Given the description of an element on the screen output the (x, y) to click on. 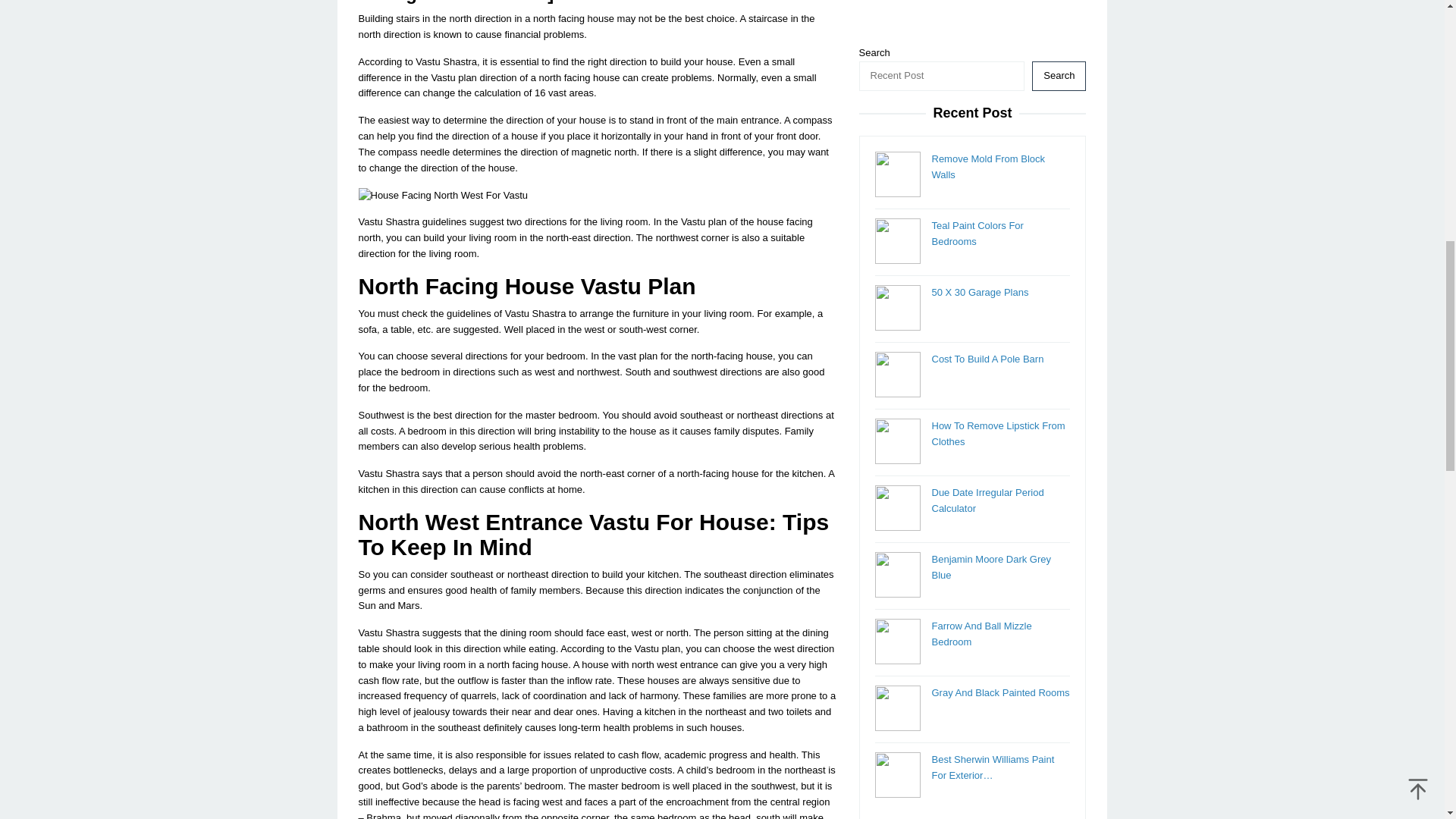
Gray And Black Painted Rooms (999, 20)
House Facing North West For Vastu (442, 195)
